Given the description of an element on the screen output the (x, y) to click on. 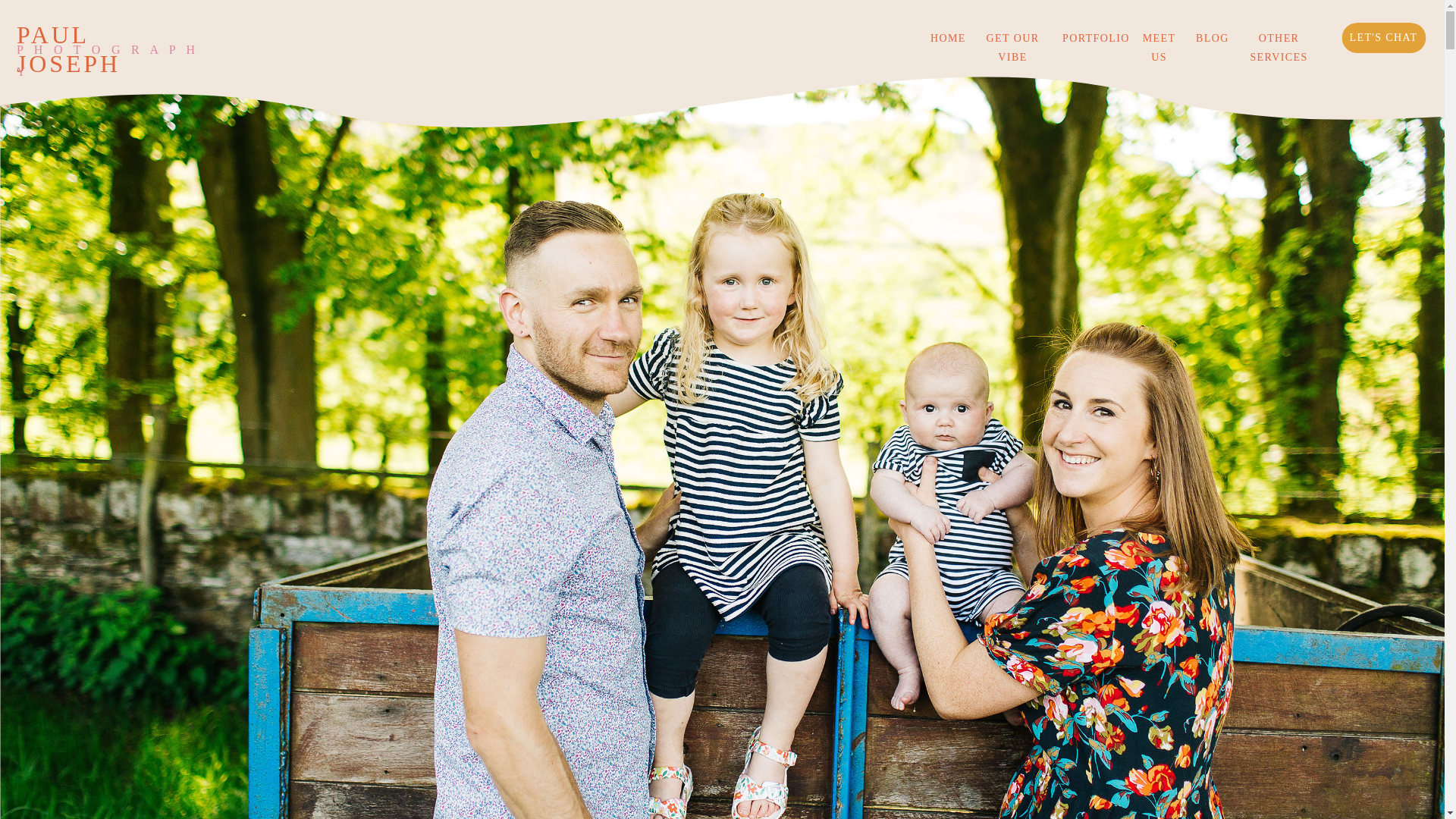
LET'S CHAT (1382, 37)
PORTFOLIO (1091, 37)
HOME (946, 37)
GET OUR VIBE (1012, 37)
OTHER SERVICES (1278, 37)
BLOG (1208, 37)
MEET US (1158, 37)
P H O T O G R A P H Y (107, 47)
PAUL JOSEPH (107, 33)
